Given the description of an element on the screen output the (x, y) to click on. 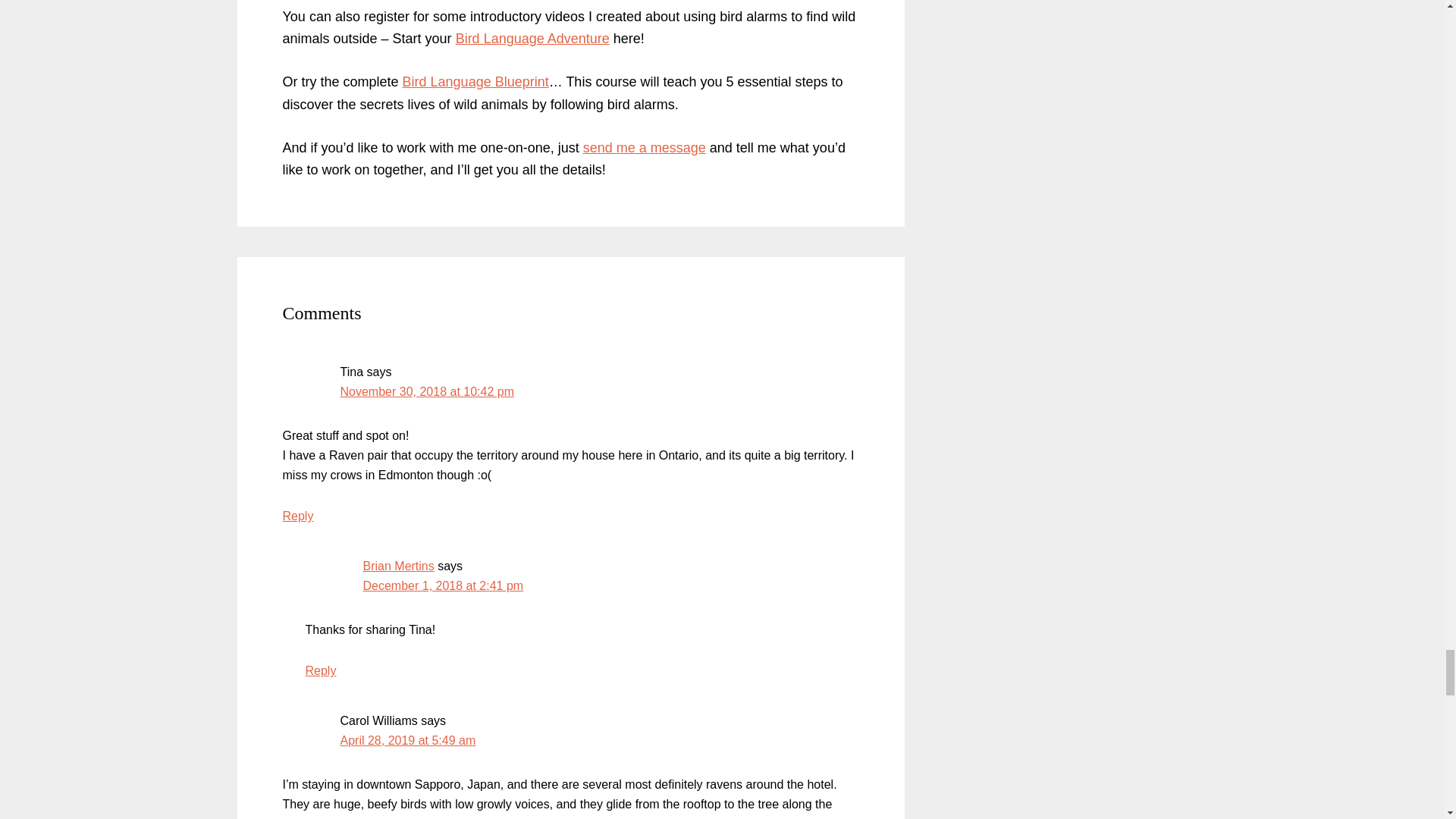
November 30, 2018 at 10:42 pm (426, 391)
December 1, 2018 at 2:41 pm (442, 585)
Reply (320, 670)
Bird Language Adventure (532, 38)
Brian Mertins (397, 565)
April 28, 2019 at 5:49 am (407, 739)
Reply (297, 515)
Bird Language Blueprint (475, 81)
send me a message (644, 147)
